Given the description of an element on the screen output the (x, y) to click on. 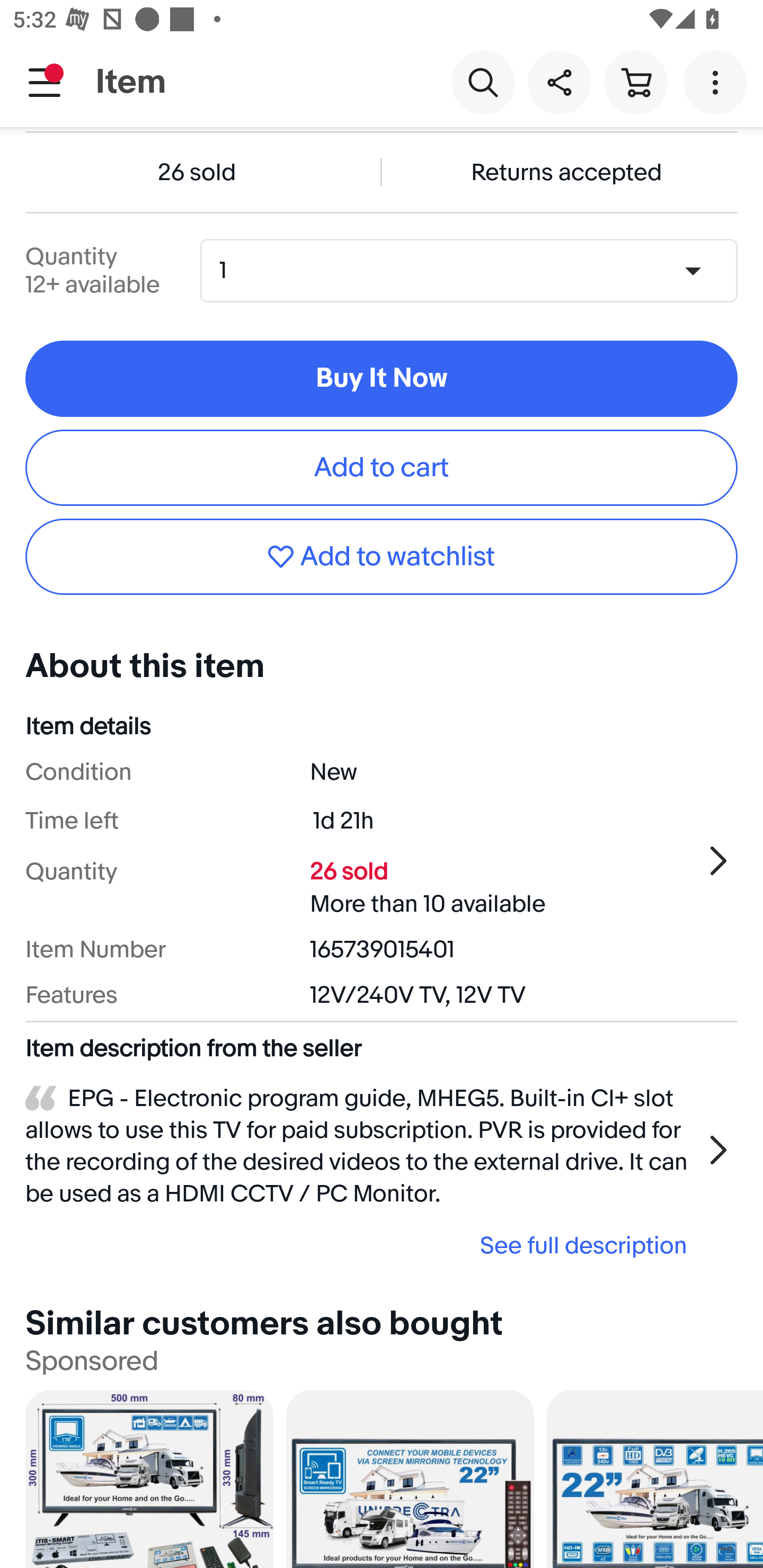
Main navigation, notification is pending, open (44, 82)
Search (482, 81)
Share this item (559, 81)
Cart button shopping cart (635, 81)
More options (718, 81)
Quantity,1,12+ available 1 (474, 270)
Buy It Now (381, 378)
Add to cart (381, 467)
Add to watchlist (381, 556)
See full description (362, 1245)
